Given the description of an element on the screen output the (x, y) to click on. 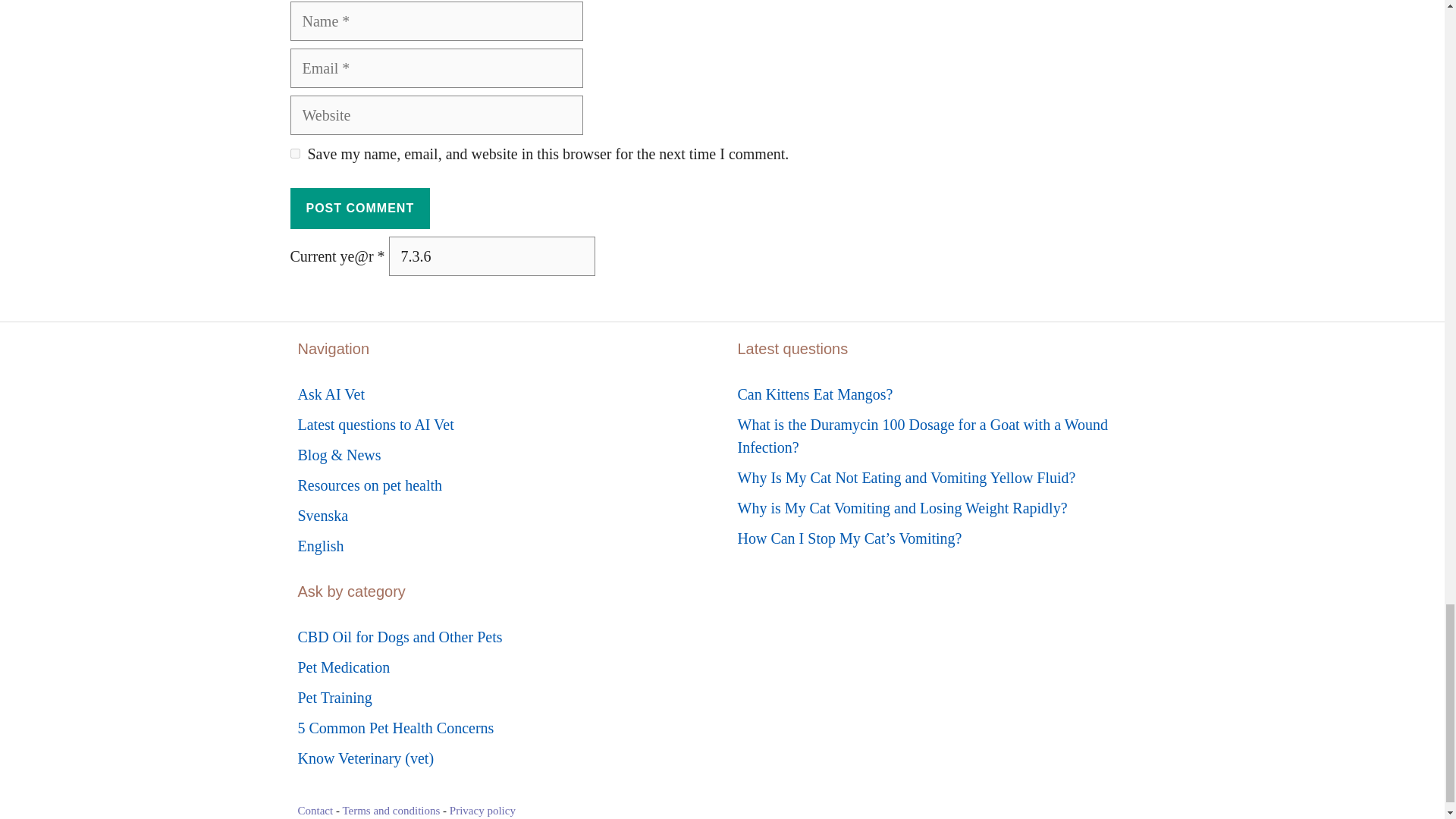
Latest questions to AI Vet (374, 424)
CBD Oil for Dogs and Other Pets (399, 636)
Privacy policy (482, 810)
English (320, 545)
Contact (315, 810)
Can Kittens Eat Mangos? (814, 393)
Why Is My Cat Not Eating and Vomiting Yellow Fluid? (905, 477)
Pet Medication (343, 667)
Why is My Cat Vomiting and Losing Weight Rapidly? (901, 507)
Pet Training (334, 697)
Resources on pet health (369, 484)
Terms and conditions (390, 810)
Ask AI Vet (331, 393)
Post Comment (359, 208)
